Given the description of an element on the screen output the (x, y) to click on. 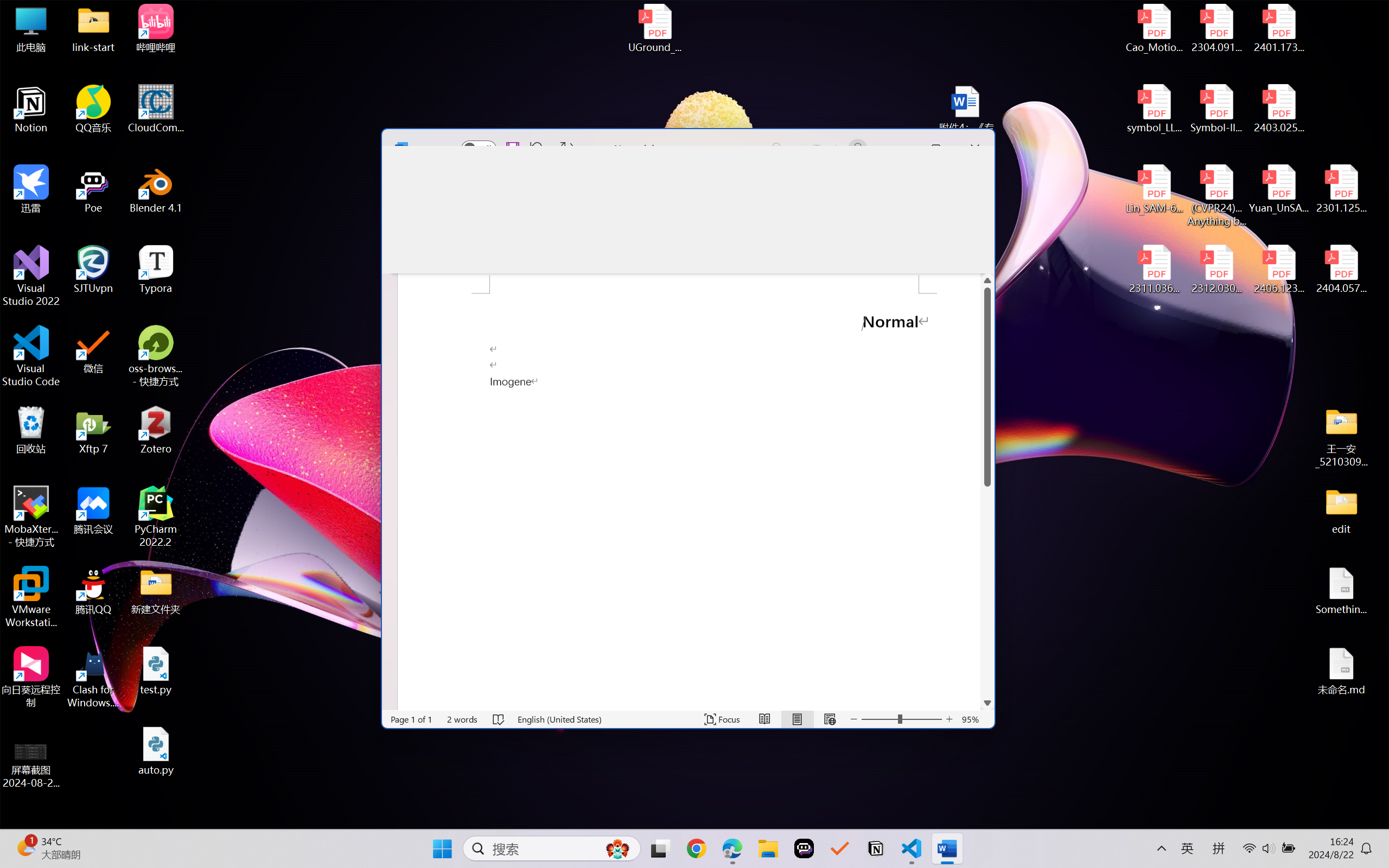
Poe (93, 189)
Visual Studio 2022 (31, 276)
Page down (987, 577)
